Given the description of an element on the screen output the (x, y) to click on. 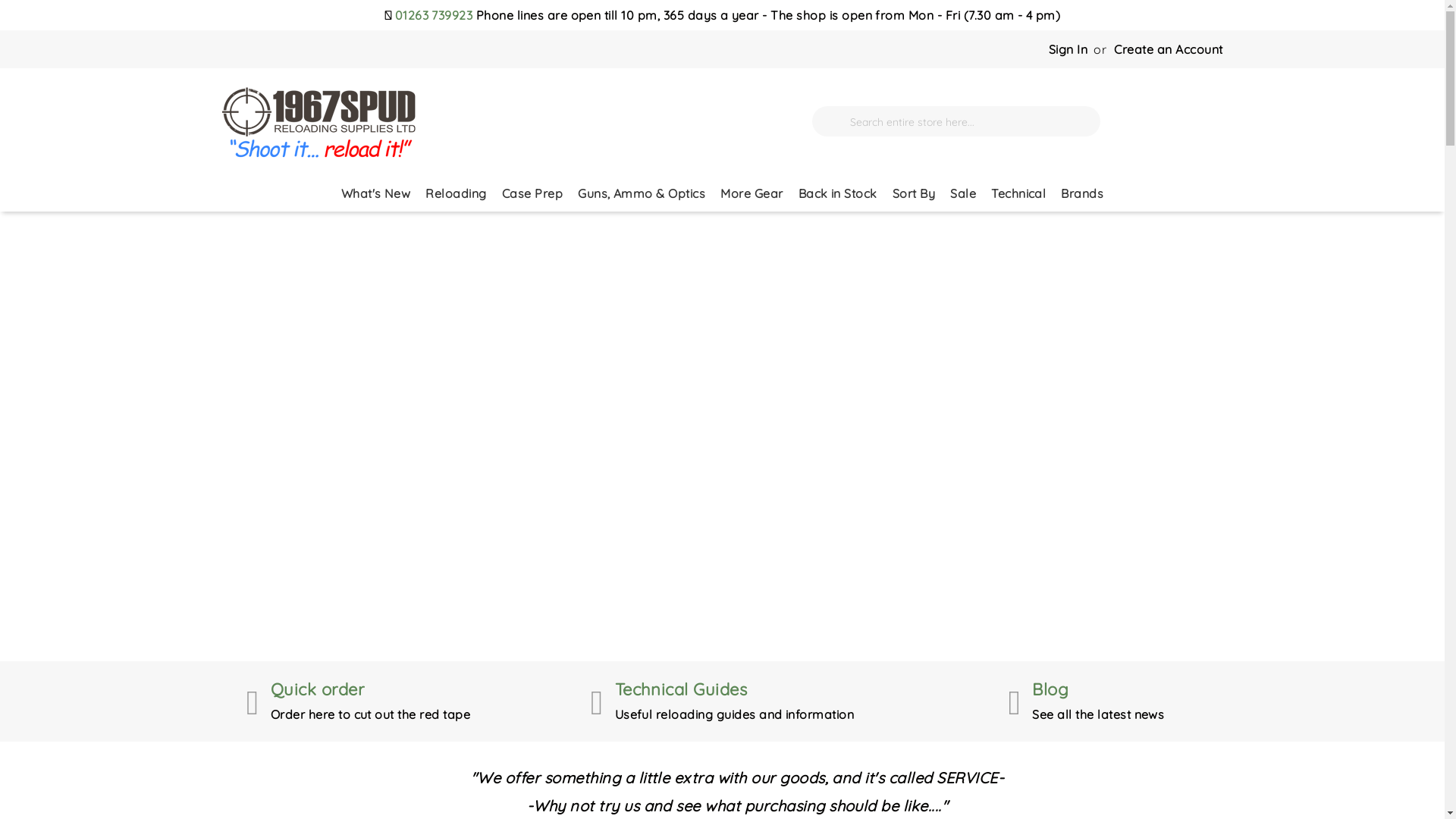
Brands Element type: text (1081, 192)
Case Prep Element type: text (532, 192)
Sale Element type: text (962, 192)
Technical Guides Element type: text (681, 688)
01263 739923 Element type: text (434, 14)
Back in Stock Element type: text (837, 192)
What's New Element type: text (375, 192)
Sort By Element type: text (913, 192)
Blog Element type: text (1050, 688)
Technical Element type: text (1018, 192)
Search Element type: hover (830, 121)
1967 Spud Reloading Supplies Ltd | Shoot it... reload it! Element type: hover (318, 121)
Guns, Ammo & Optics Element type: text (641, 192)
My Wish List Element type: hover (1144, 121)
Reloading Element type: text (455, 192)
Skip to Content Element type: text (1222, 40)
Create an Account Element type: text (1167, 48)
More Gear Element type: text (751, 192)
Sign In Element type: text (1067, 48)
My Cart Element type: hover (1199, 121)
Quick order Element type: text (317, 688)
